Given the description of an element on the screen output the (x, y) to click on. 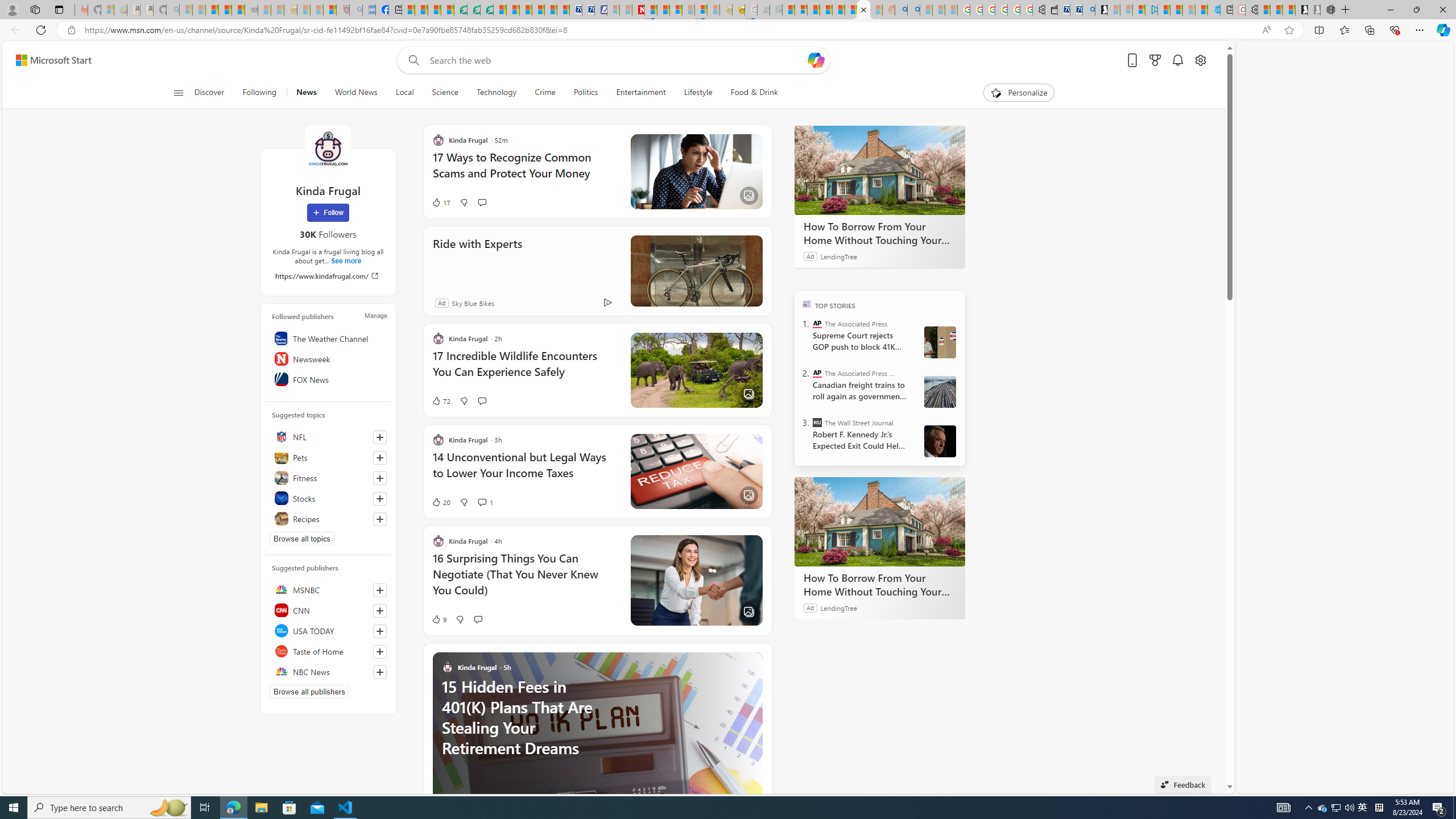
Open navigation menu (177, 92)
Start the conversation (478, 619)
Kinda Frugal (327, 148)
The Associated Press - Business News (816, 372)
Technology (496, 92)
Politics (585, 92)
Food & Drink (748, 92)
Web search (411, 60)
Cheap Hotels - Save70.com (587, 9)
